Given the description of an element on the screen output the (x, y) to click on. 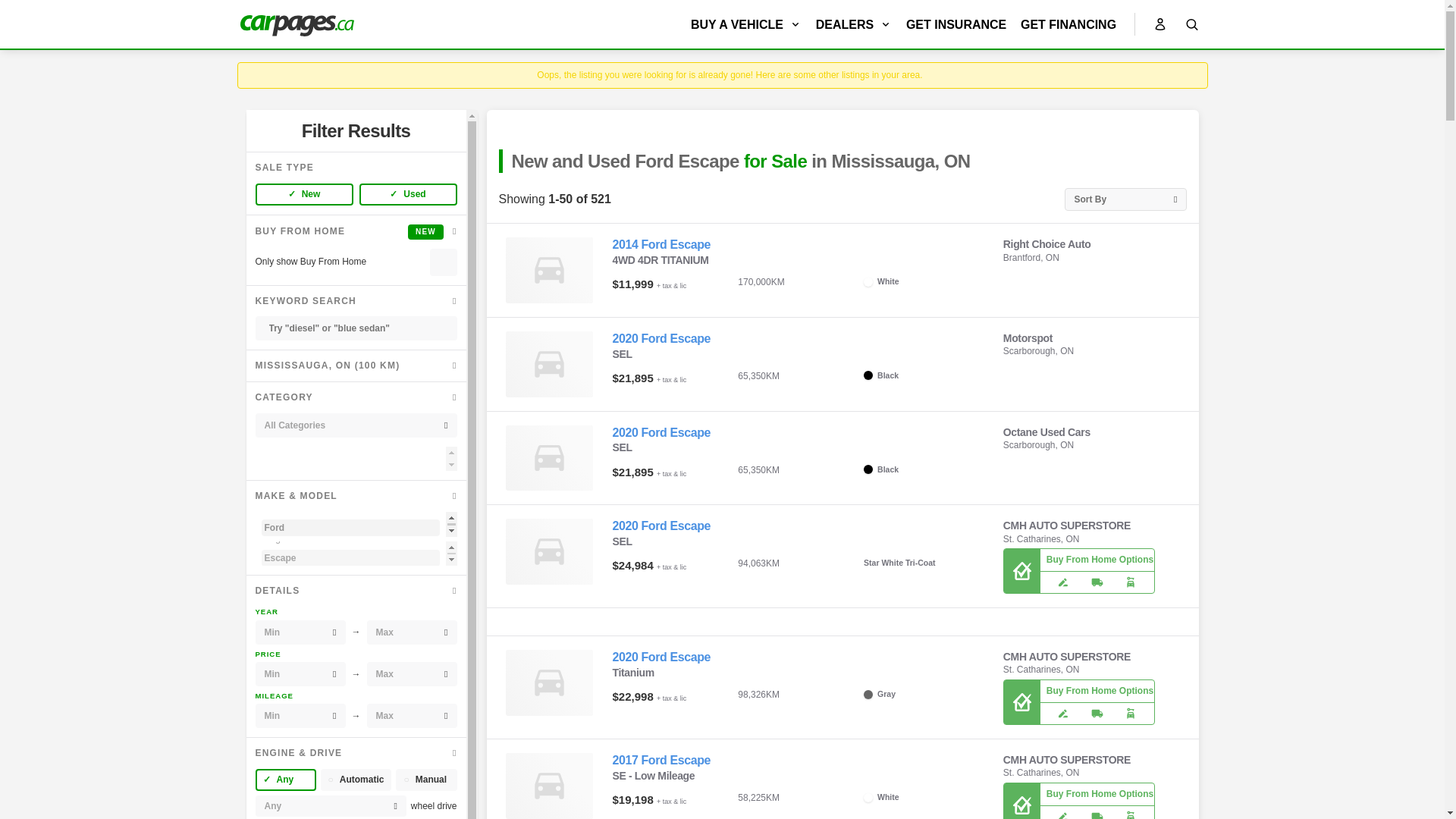
Sign in to access user account (1159, 23)
BUY A VEHICLE (746, 24)
2020 Ford Escape Titanium (661, 656)
Used 2020 Ford Escape SEL for sale in Scarborough, ON (549, 364)
Used 2020 Ford Escape SEL for sale in Scarborough, ON (549, 458)
2020 Ford Escape SEL (661, 525)
2020 Ford Escape SEL (661, 338)
